Given the description of an element on the screen output the (x, y) to click on. 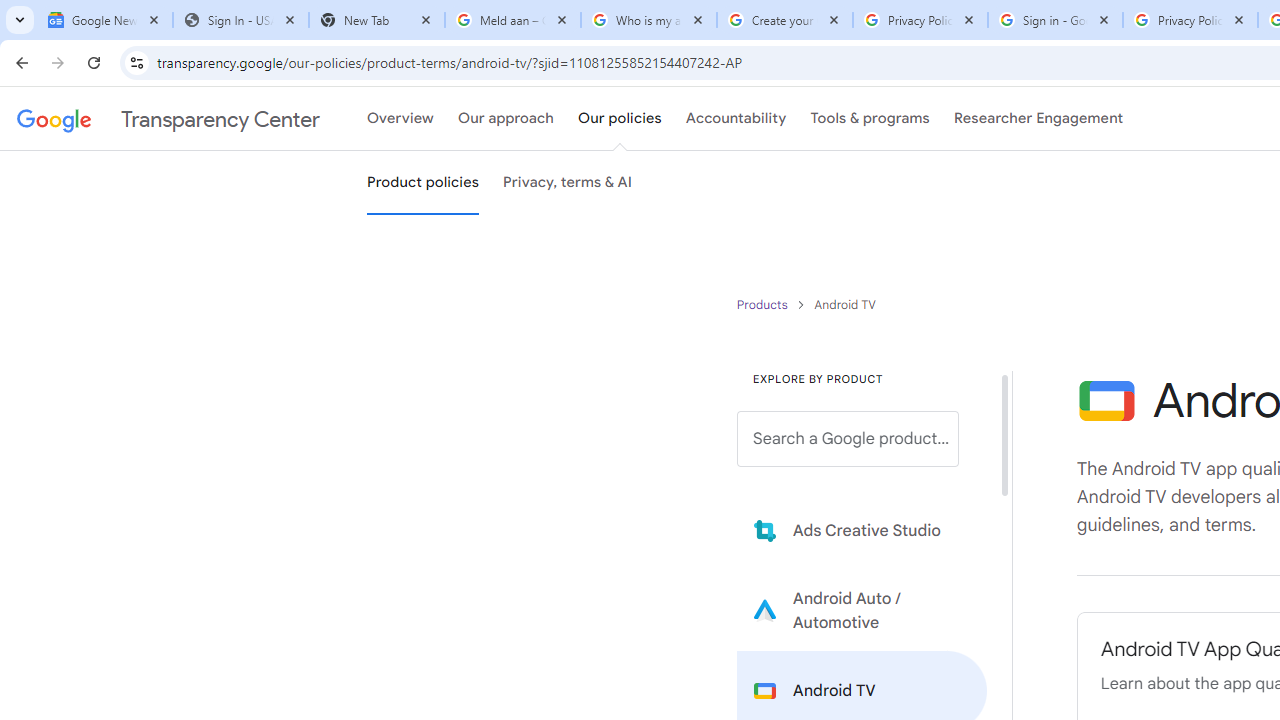
Transparency Center (167, 119)
Tools & programs (869, 119)
Privacy, terms & AI (568, 183)
Product policies (763, 304)
Learn more about Android Auto (862, 610)
New Tab (376, 20)
